Given the description of an element on the screen output the (x, y) to click on. 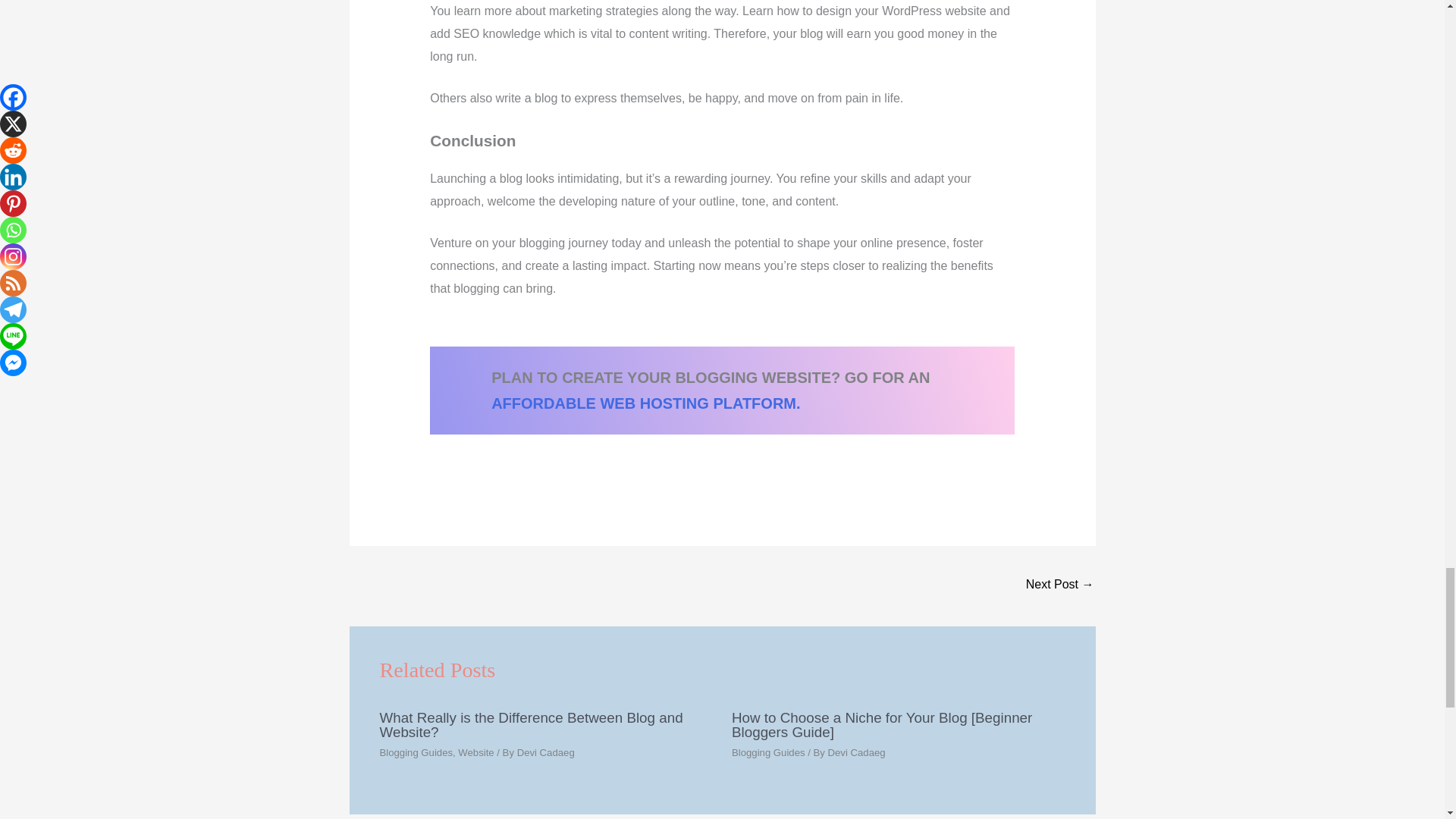
AFFORDABLE WEB HOSTING PLATFORM. (645, 402)
What Really is the Difference Between Blog and Website? (1060, 585)
